Given the description of an element on the screen output the (x, y) to click on. 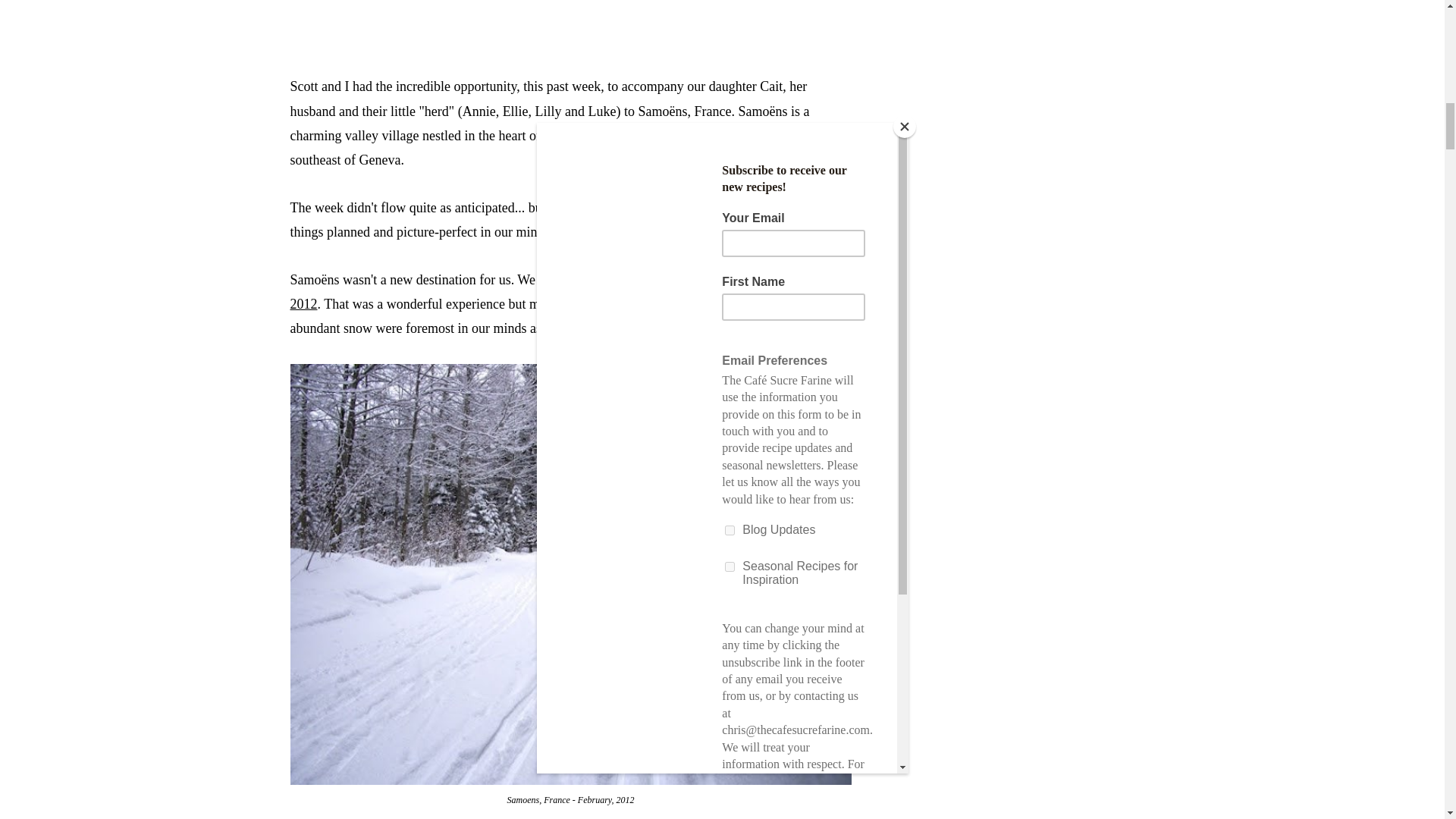
winter holiday there with Cait and the family in 2012 (564, 291)
